Given the description of an element on the screen output the (x, y) to click on. 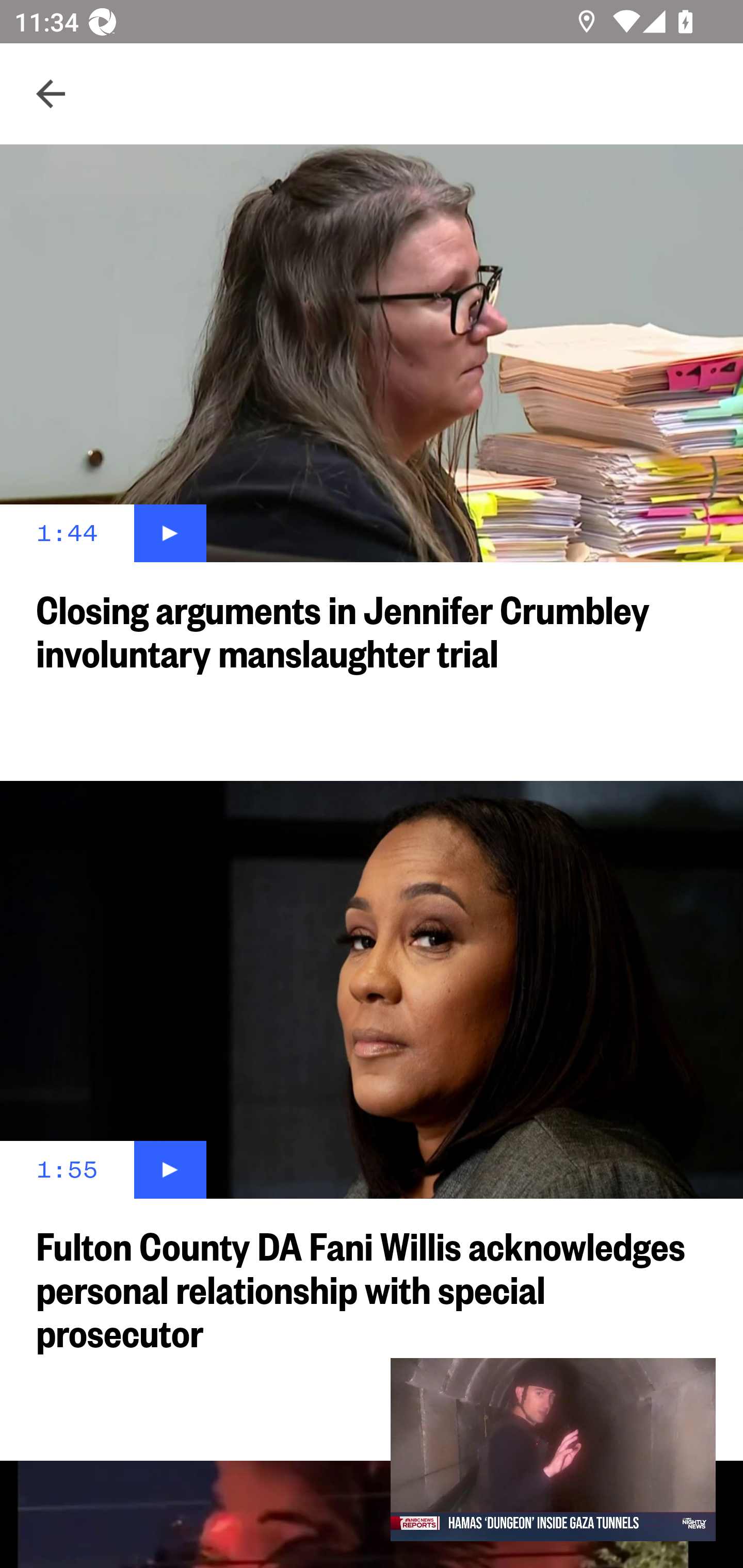
Navigate up (50, 93)
